Given the description of an element on the screen output the (x, y) to click on. 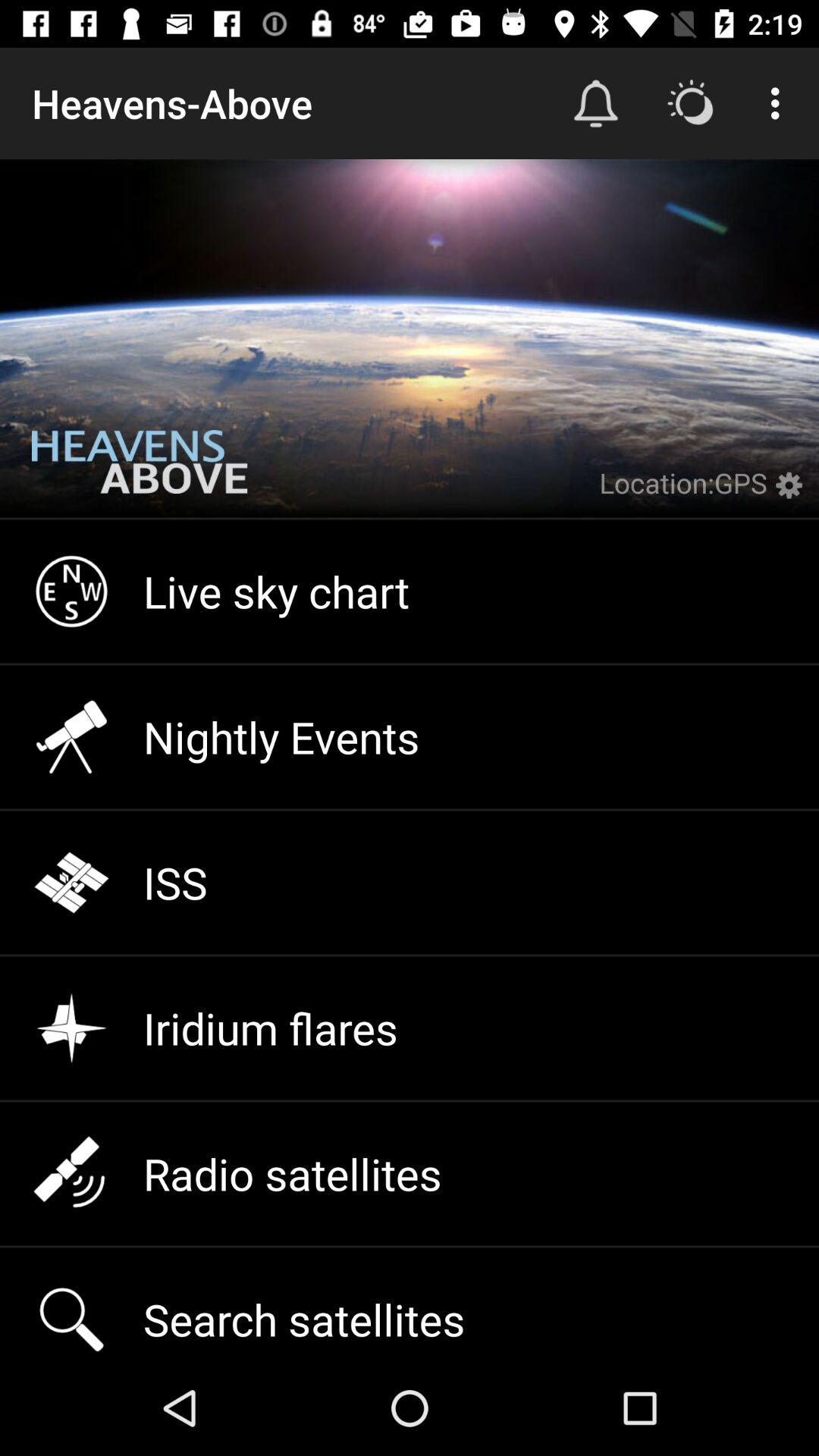
turn on the item to the right of location:gps icon (793, 494)
